Given the description of an element on the screen output the (x, y) to click on. 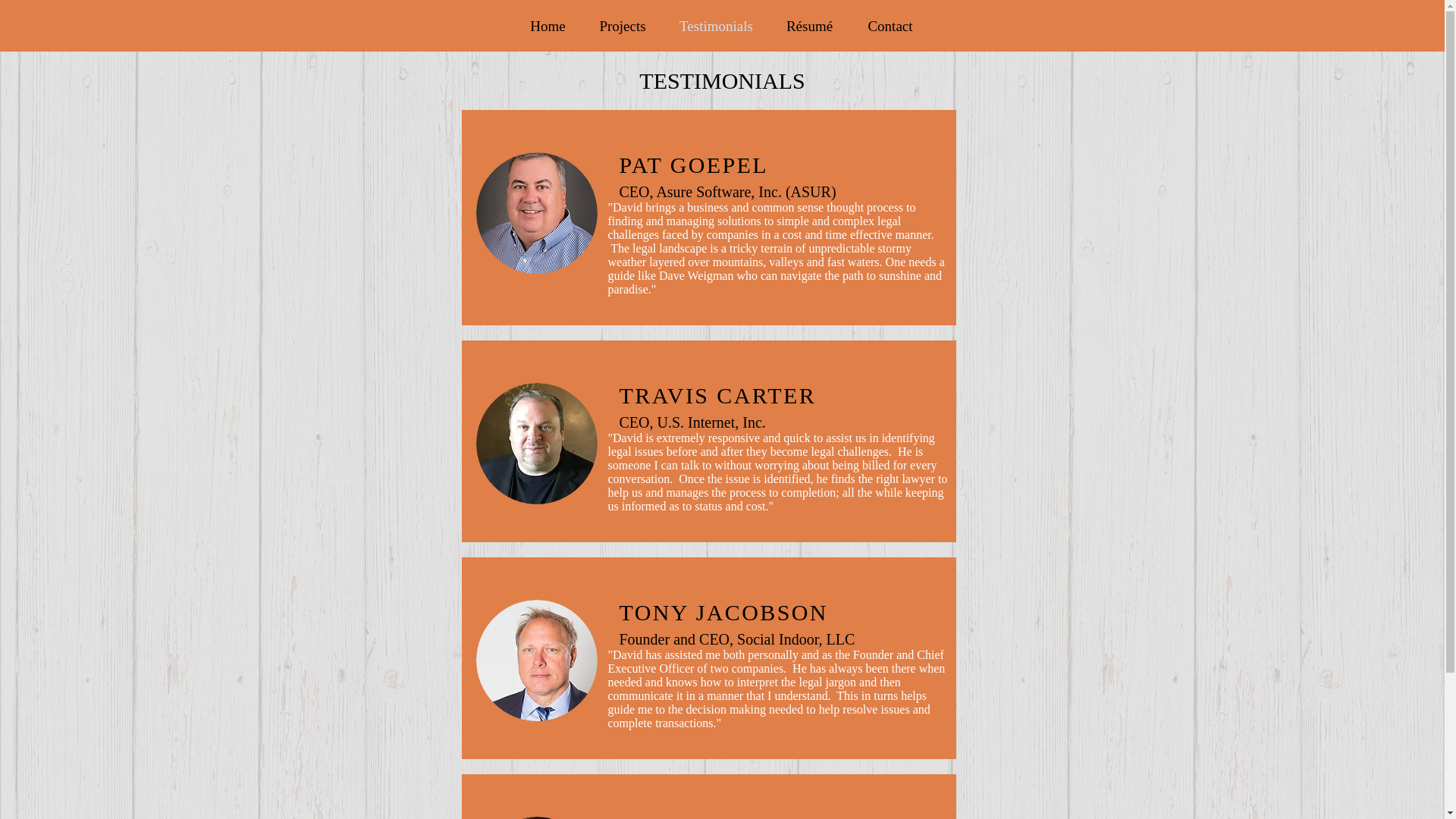
Home (547, 25)
Contact (889, 25)
Projects (622, 25)
Testimonials (715, 25)
